Given the description of an element on the screen output the (x, y) to click on. 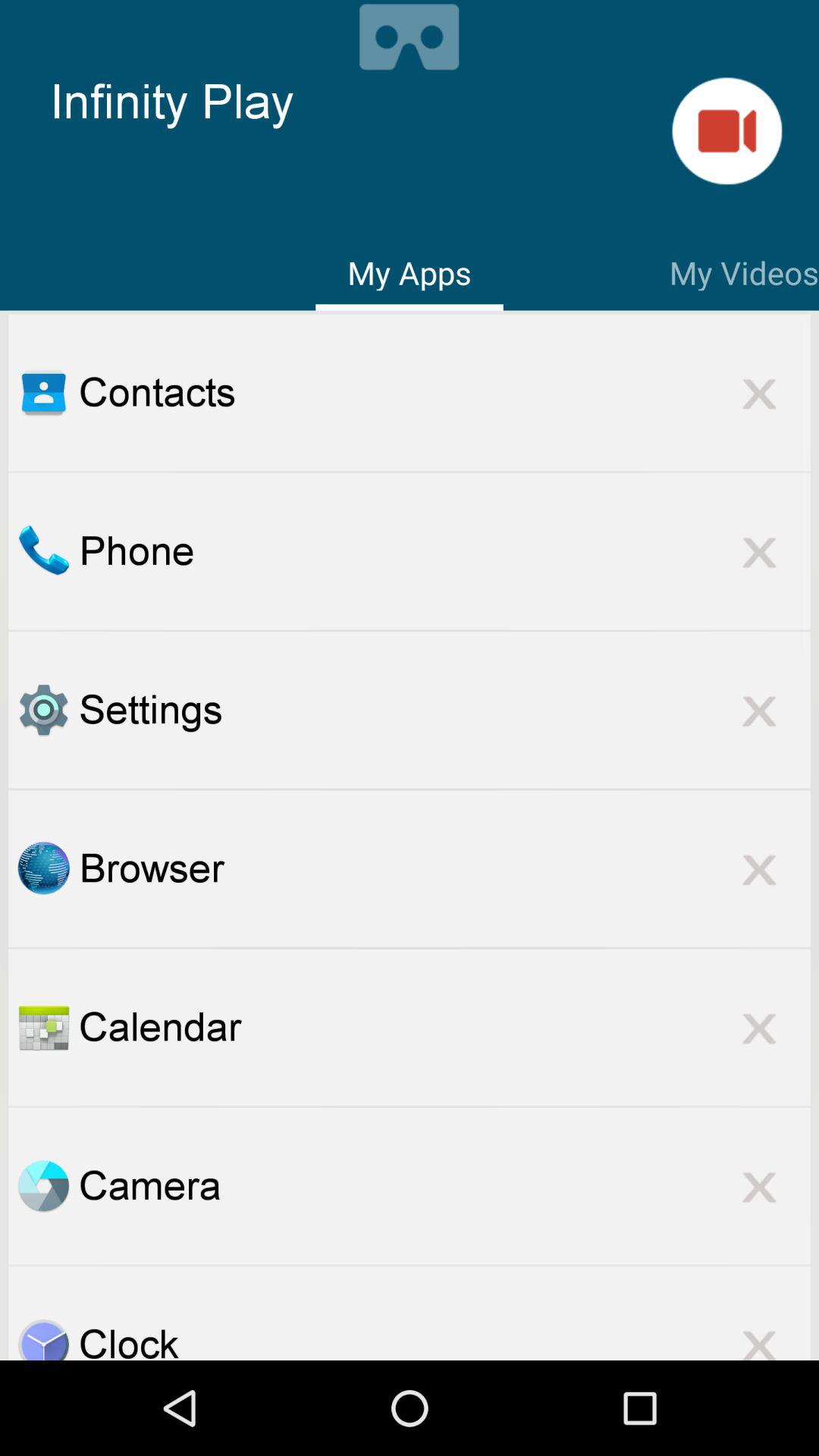
open phone app (43, 550)
